Given the description of an element on the screen output the (x, y) to click on. 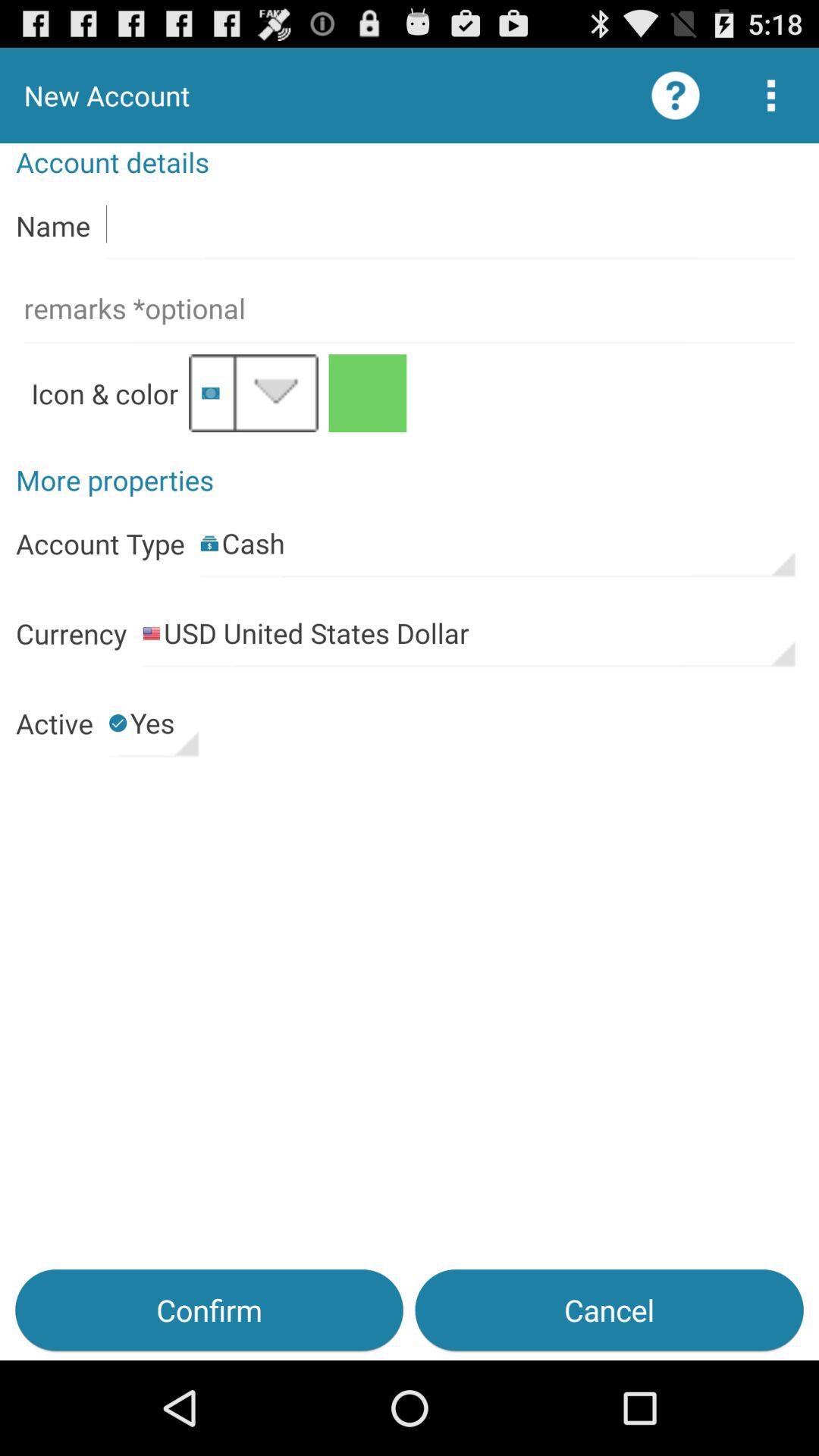
change the color of your account (367, 393)
